Given the description of an element on the screen output the (x, y) to click on. 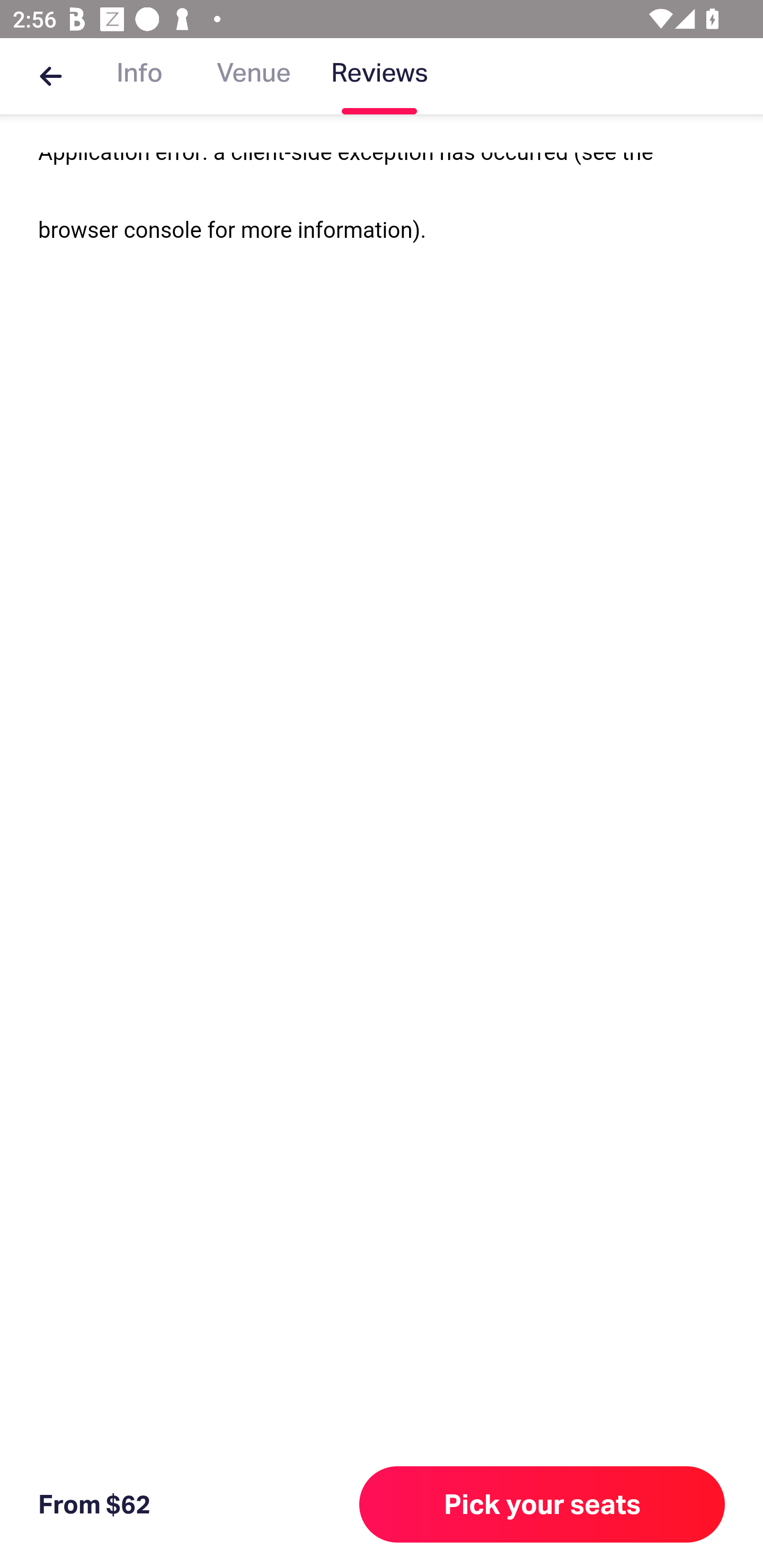
Info (139, 75)
Venue (253, 75)
Pick your seats (541, 1504)
